Given the description of an element on the screen output the (x, y) to click on. 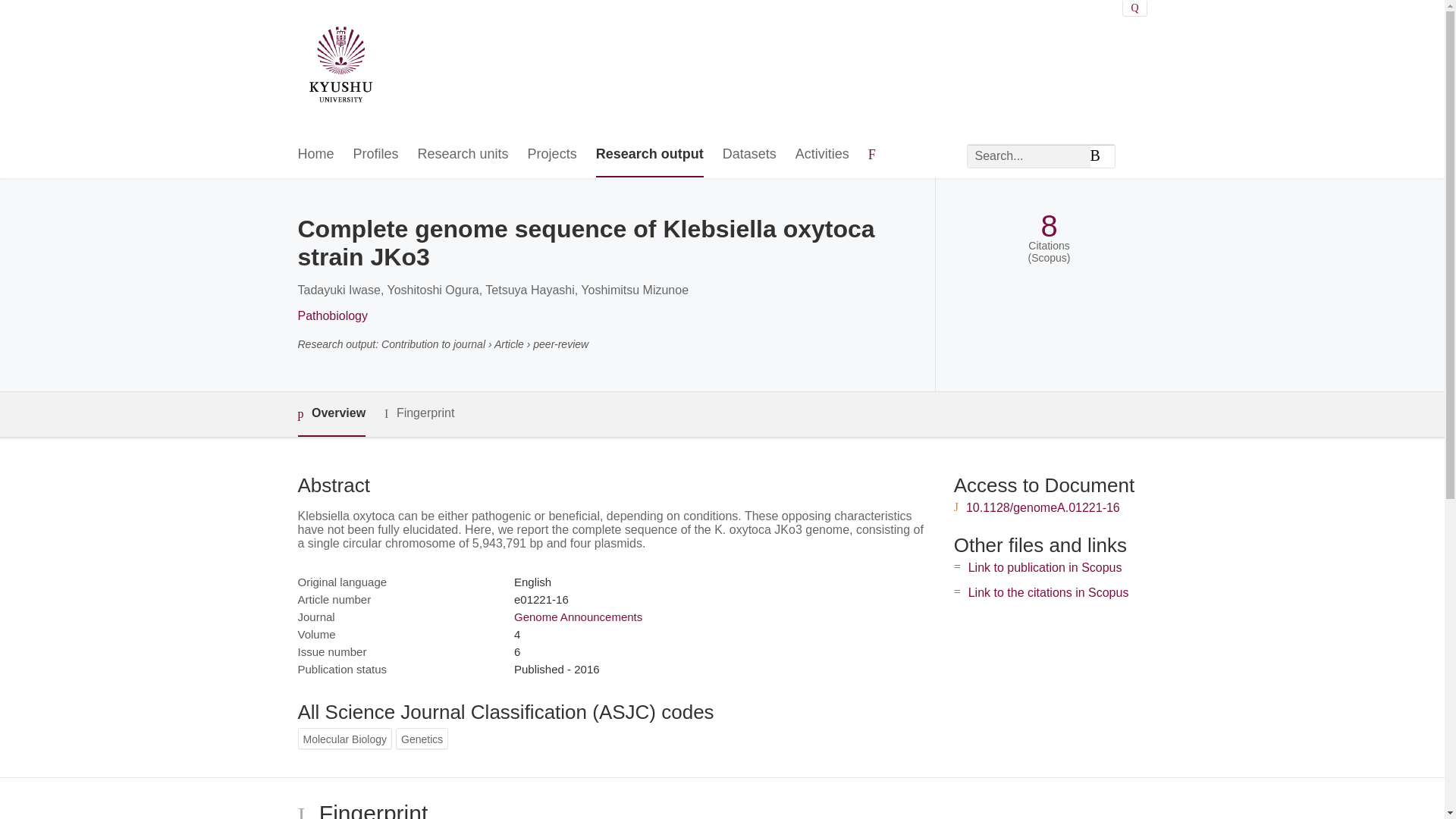
Research output (649, 154)
Research units (462, 154)
Fingerprint (419, 413)
Link to publication in Scopus (1045, 567)
Profiles (375, 154)
Projects (551, 154)
Genome Announcements (577, 616)
8 (1049, 225)
Kyushu University Home (340, 66)
Link to the citations in Scopus (1048, 592)
Home (315, 154)
Pathobiology (332, 315)
Overview (331, 414)
Datasets (749, 154)
